Given the description of an element on the screen output the (x, y) to click on. 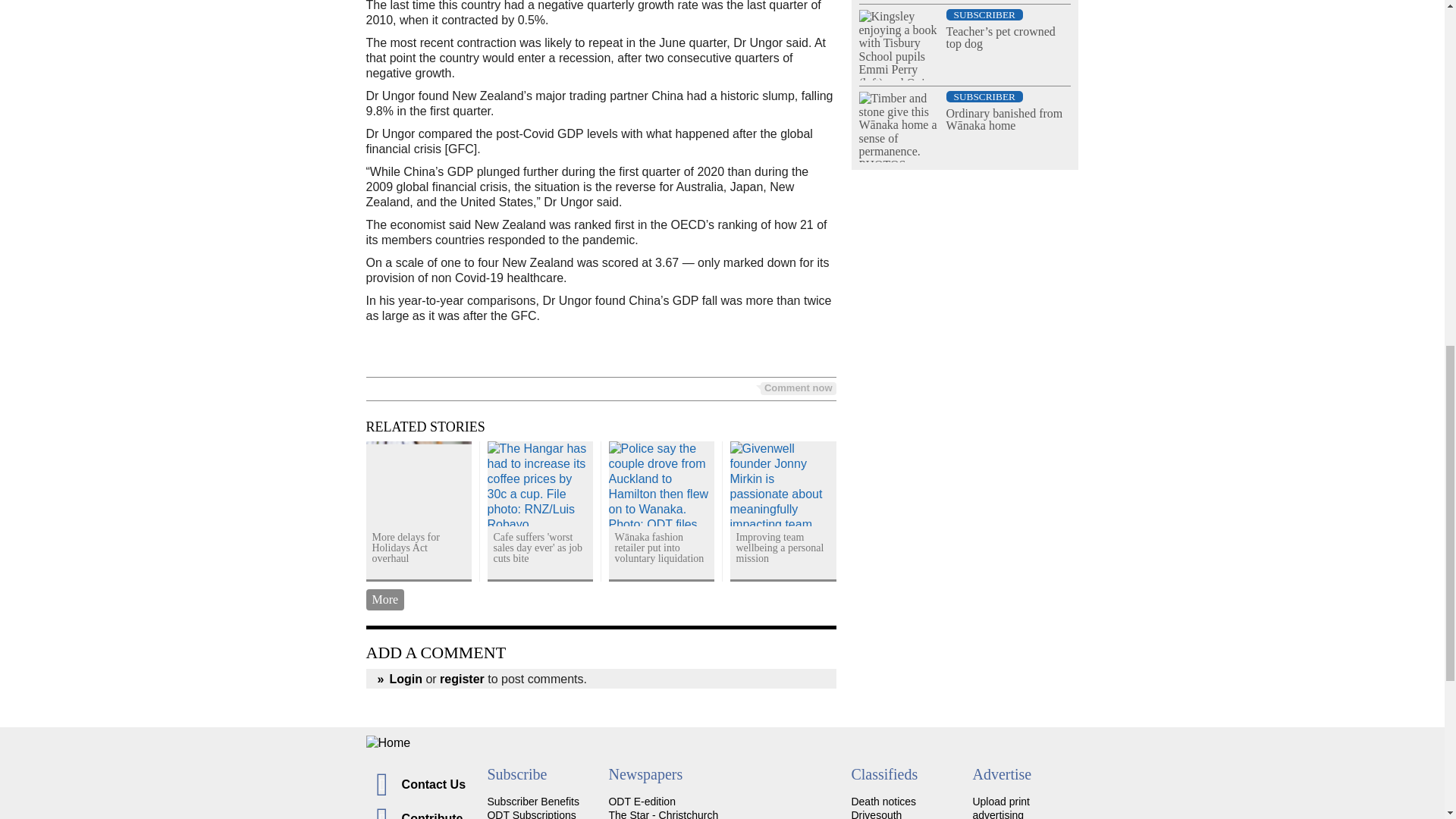
Ways to subscribe to the Otago Daily Times (530, 814)
Get the ODT delivered right to you! (532, 801)
Home (721, 742)
